Given the description of an element on the screen output the (x, y) to click on. 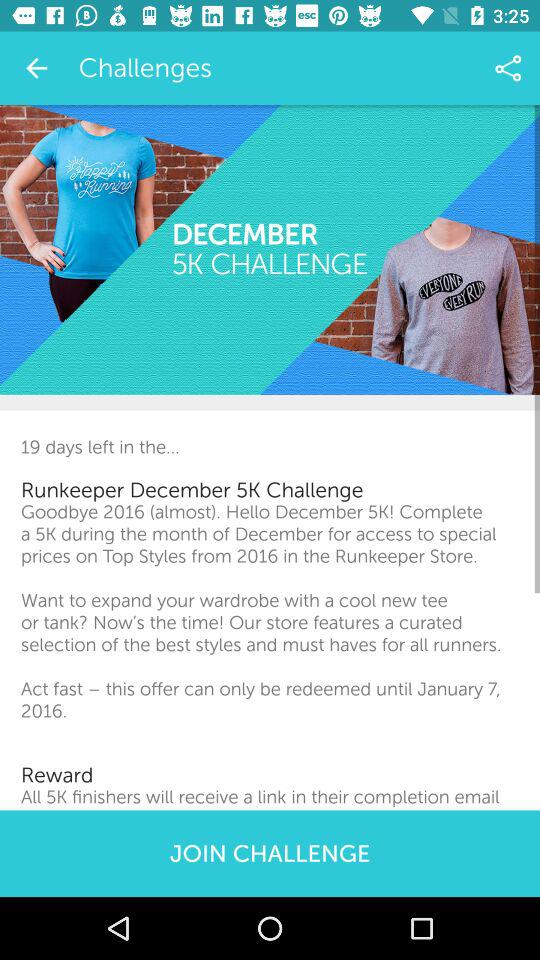
click item below all 5k finishers item (270, 853)
